Given the description of an element on the screen output the (x, y) to click on. 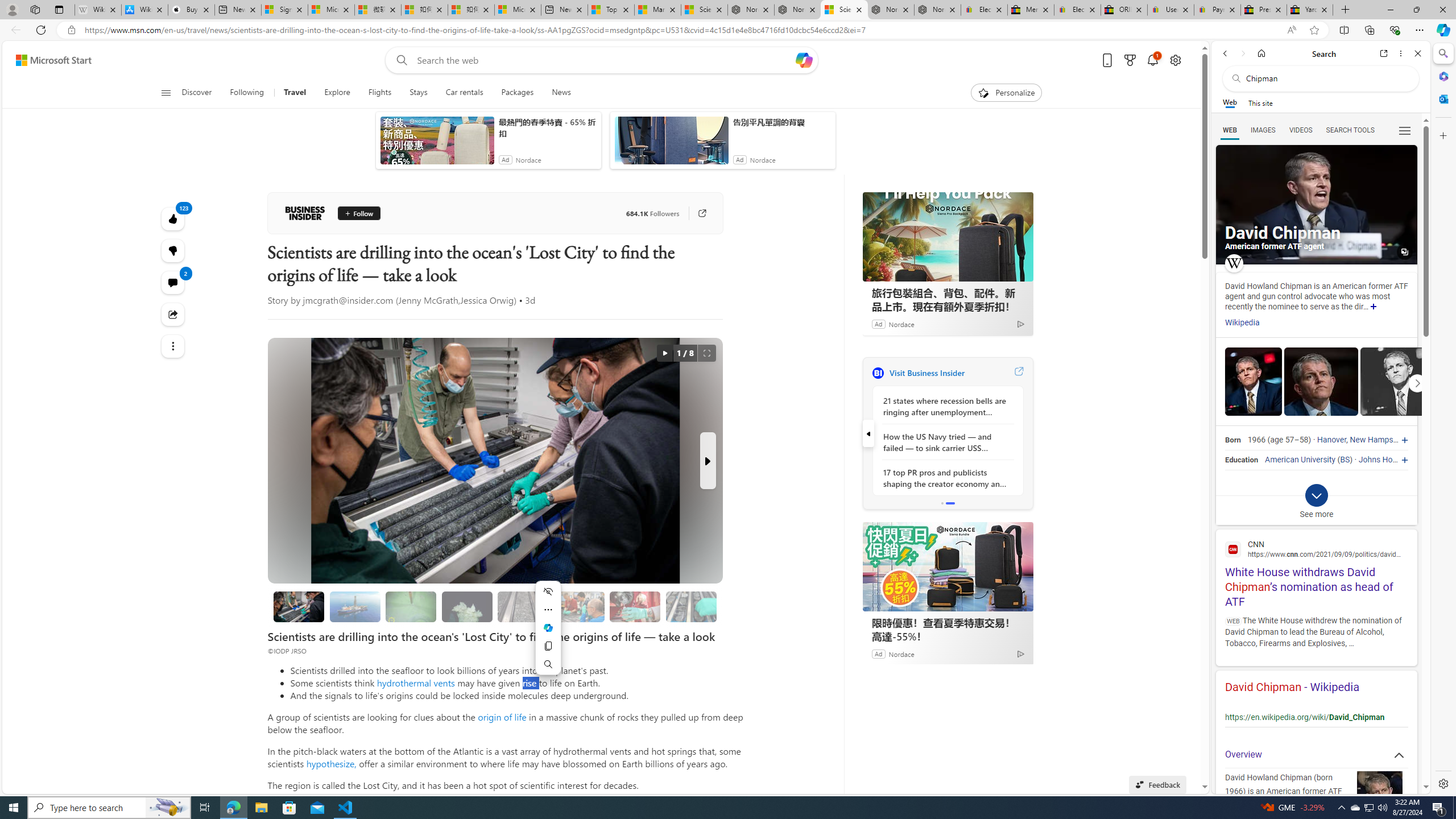
Search Filter, VIDEOS (1300, 129)
Preferences (1403, 129)
Skip to content (49, 59)
Nordace - Summer Adventures 2024 (890, 9)
Full screen (706, 352)
Hanover (1331, 439)
